Given the description of an element on the screen output the (x, y) to click on. 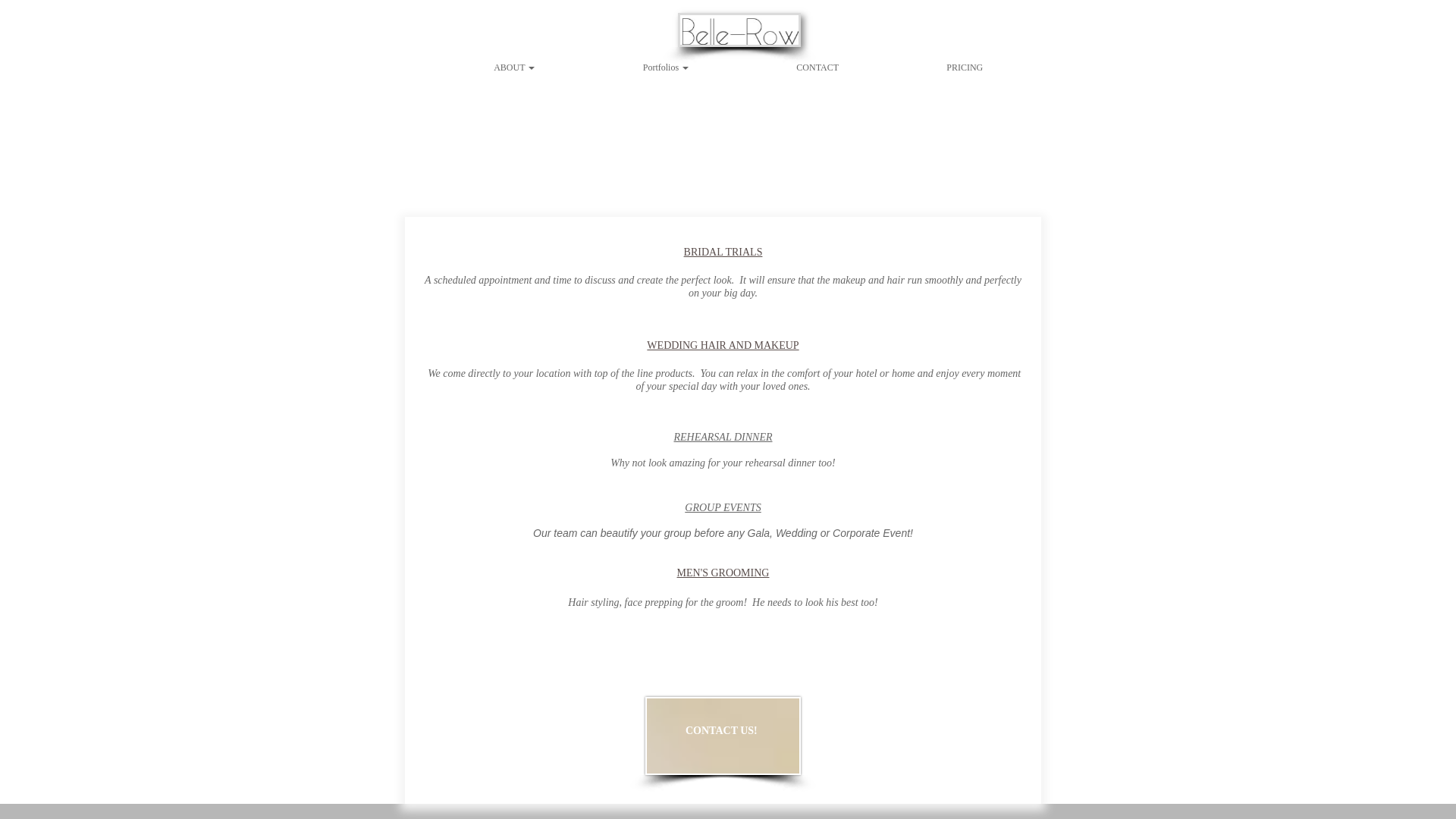
ABOUT (514, 67)
CONTACT (817, 67)
PRICING (964, 67)
Portfolios (665, 67)
